Given the description of an element on the screen output the (x, y) to click on. 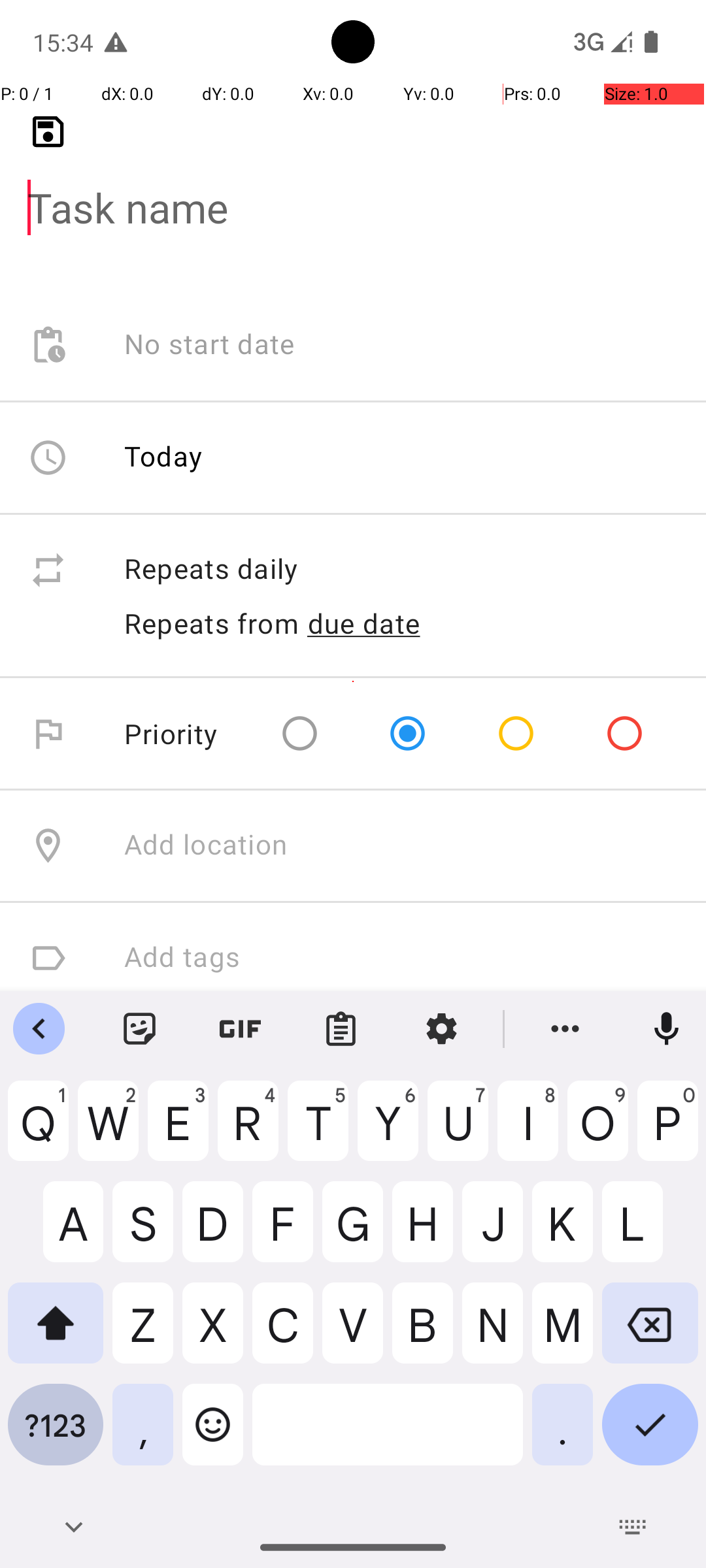
Task name Element type: android.widget.EditText (353, 186)
No start date Element type: android.widget.TextView (209, 344)
Repeats daily Element type: android.widget.TextView (400, 569)
Repeats from Element type: android.widget.TextView (211, 622)
due date Element type: android.widget.TextView (363, 623)
